Given the description of an element on the screen output the (x, y) to click on. 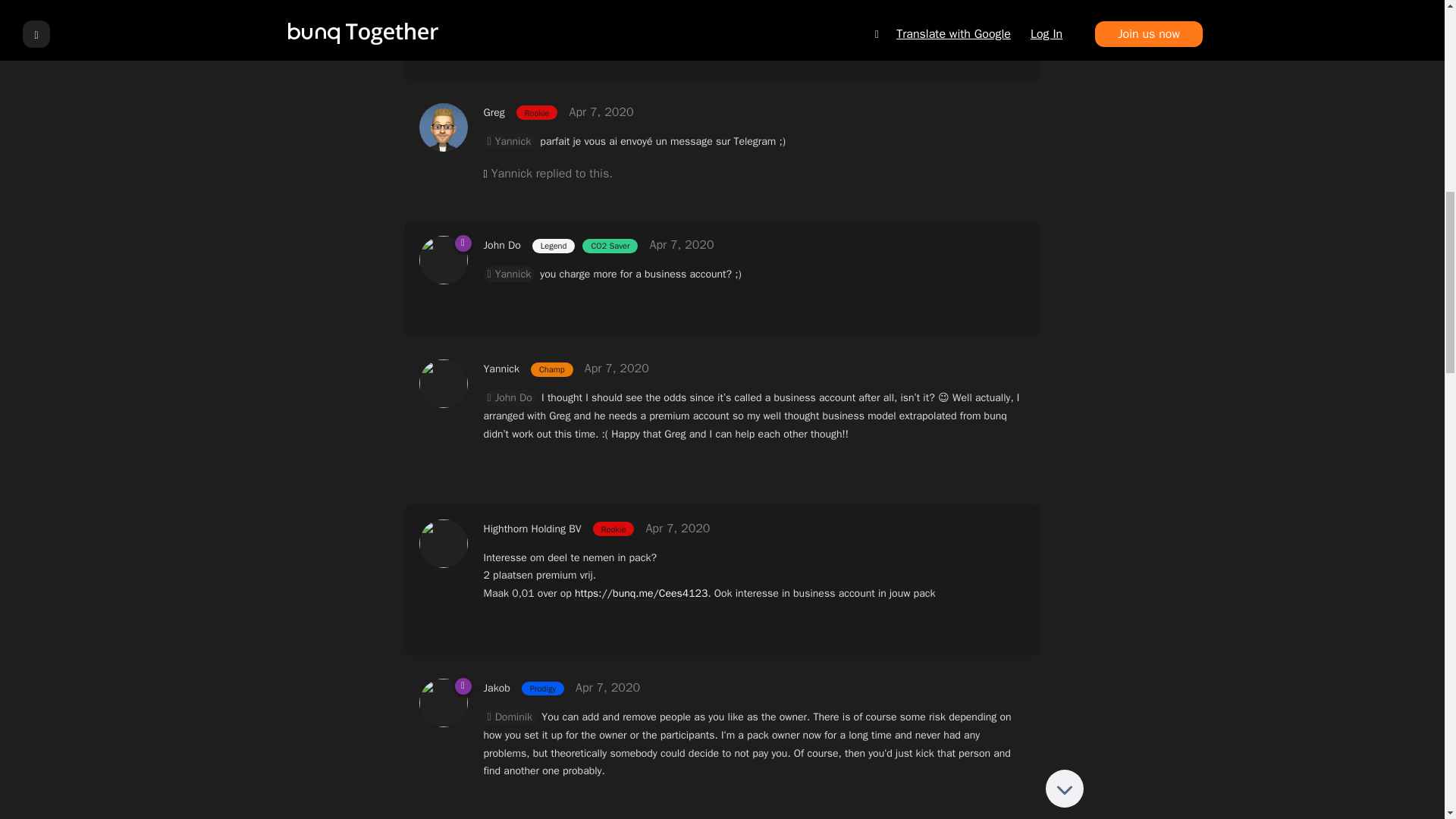
Tuesday, April 7, 2020 1:33 AM (681, 244)
Tuesday, April 7, 2020 12:42 AM (601, 111)
